Given the description of an element on the screen output the (x, y) to click on. 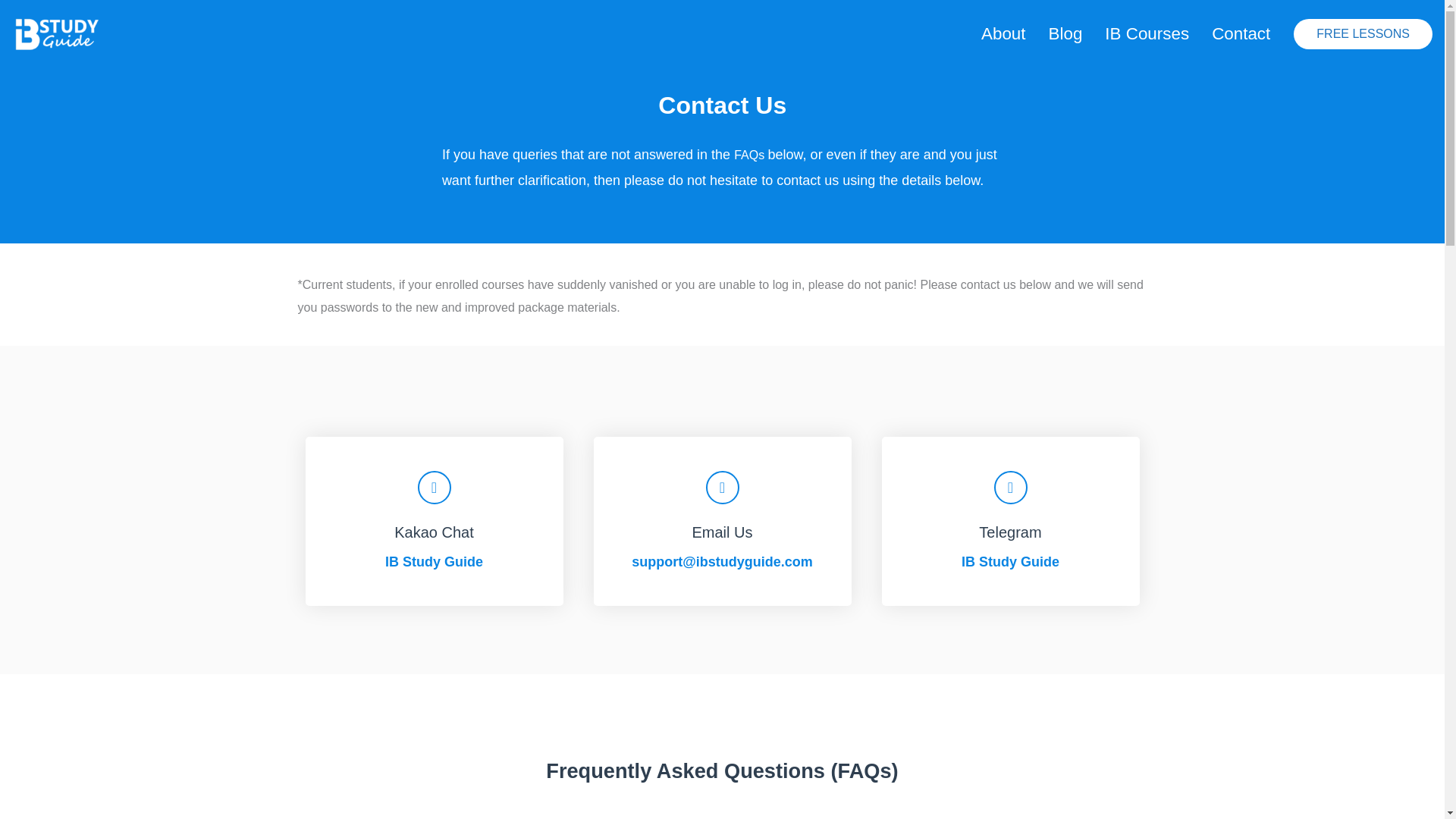
Contact (1240, 33)
FREE LESSONS (1363, 33)
IB Courses (1146, 33)
About (1002, 33)
